Given the description of an element on the screen output the (x, y) to click on. 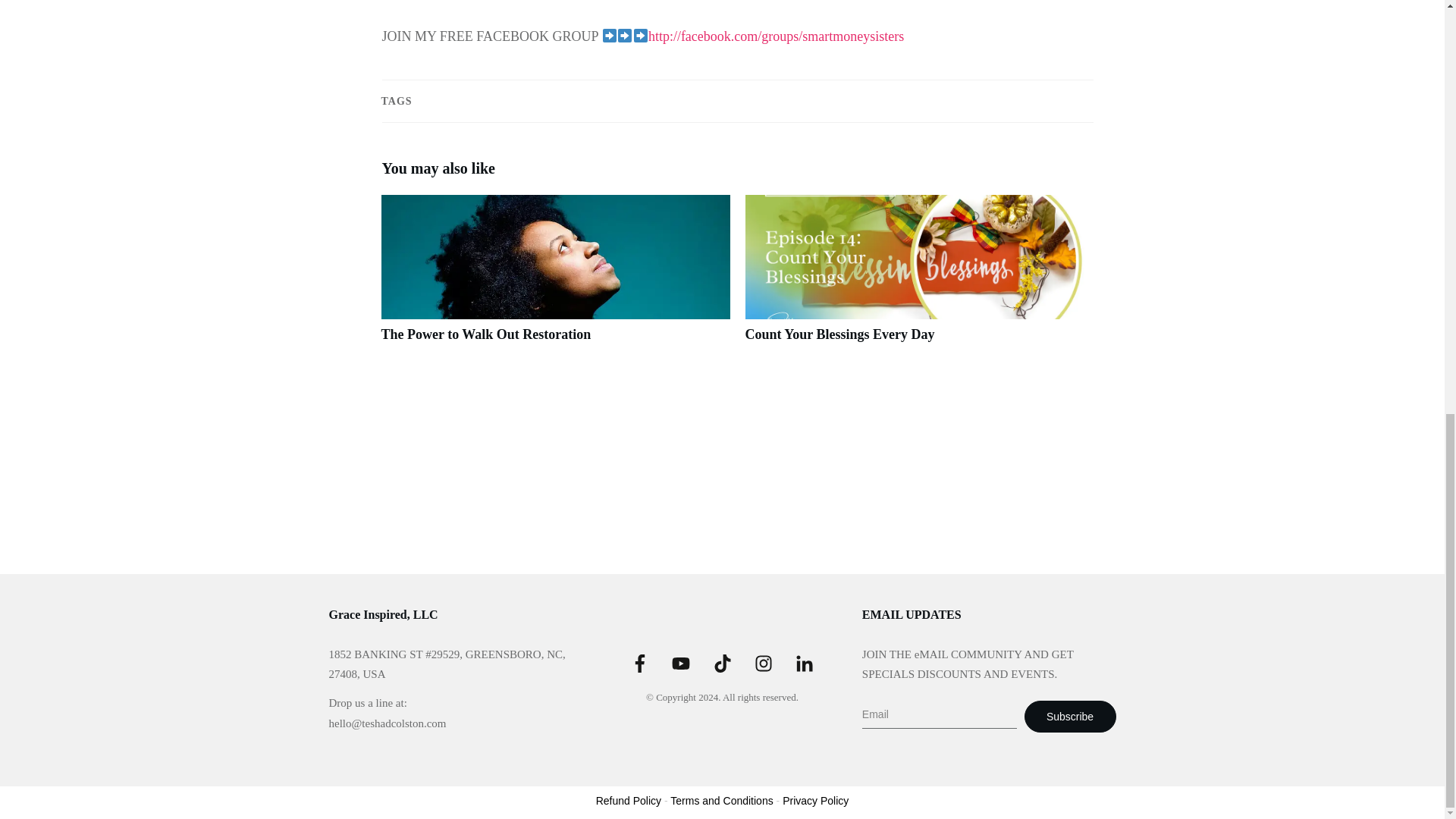
Count Your Blessings Every Day (839, 334)
The Power to Walk Out Restoration (554, 276)
The Power to Walk Out Restoration (485, 334)
Count Your Blessings Every Day (839, 334)
Subscribe (1070, 716)
The Power to Walk Out Restoration (485, 334)
Count Your Blessings Every Day (918, 276)
